Given the description of an element on the screen output the (x, y) to click on. 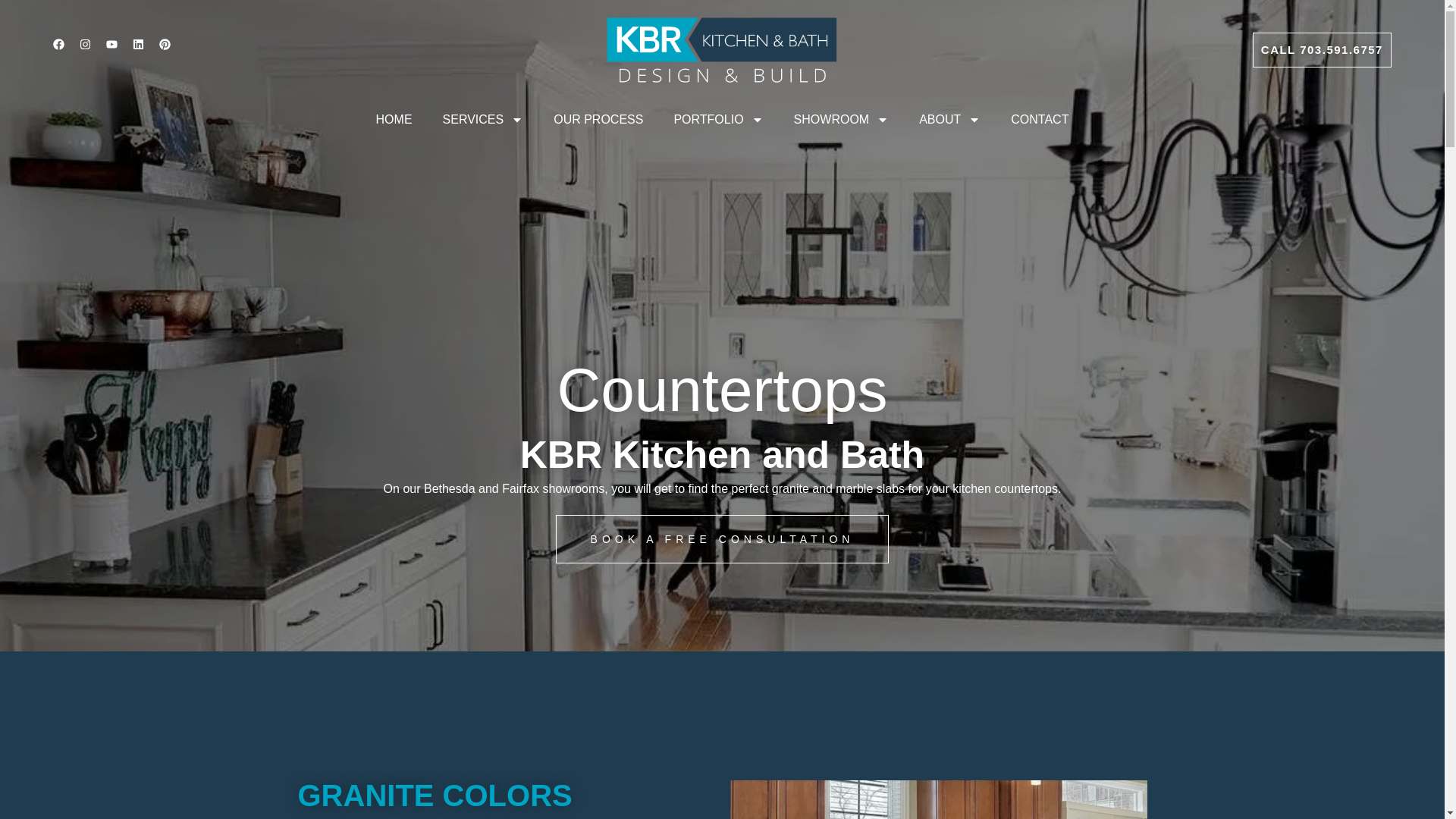
SERVICES (483, 88)
OUR PROCESS (598, 119)
HOME (394, 85)
CALL 703.591.6757 (1321, 6)
